Given the description of an element on the screen output the (x, y) to click on. 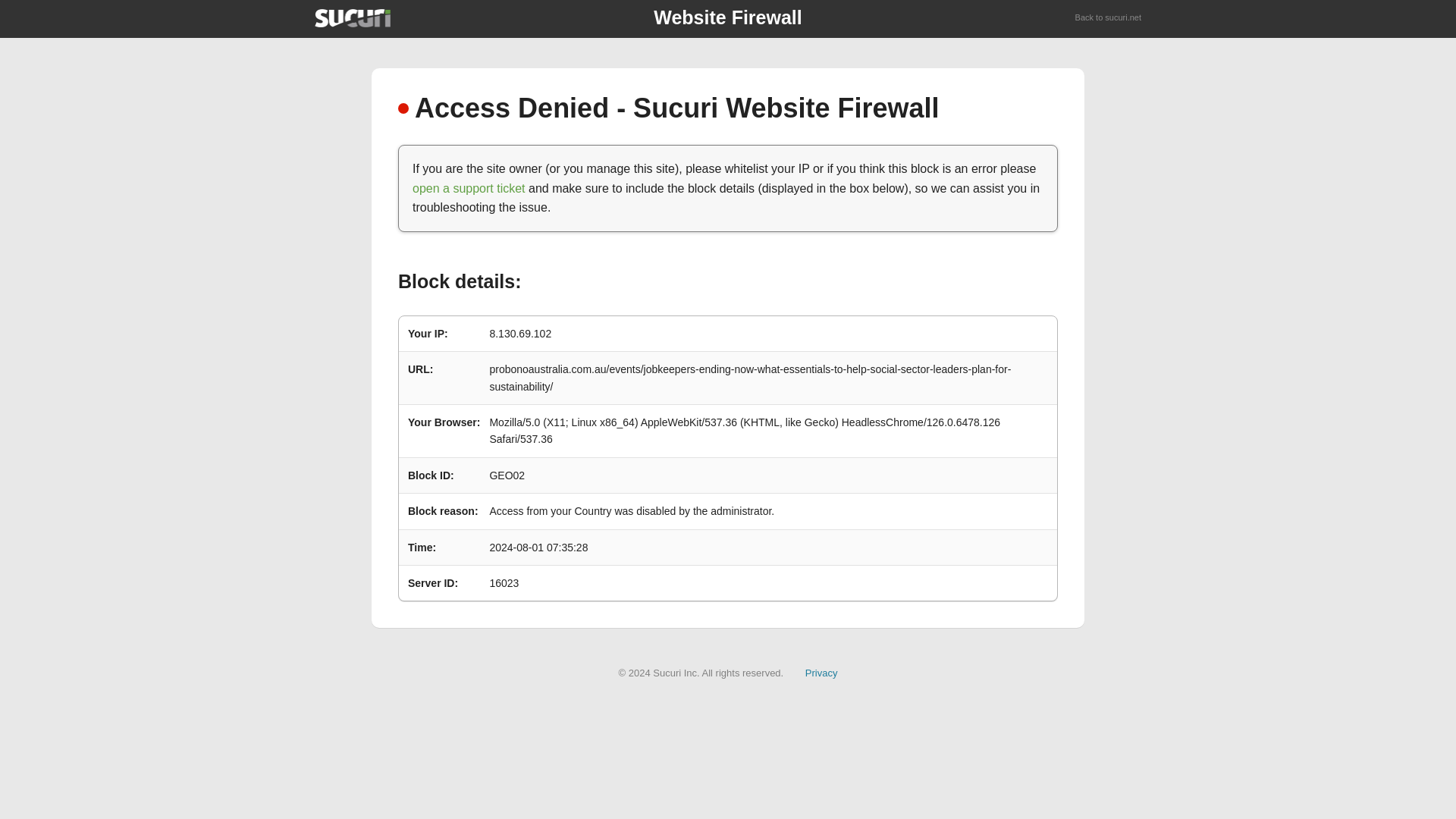
Back to sucuri.net (1108, 18)
open a support ticket (468, 187)
Privacy (821, 672)
